Given the description of an element on the screen output the (x, y) to click on. 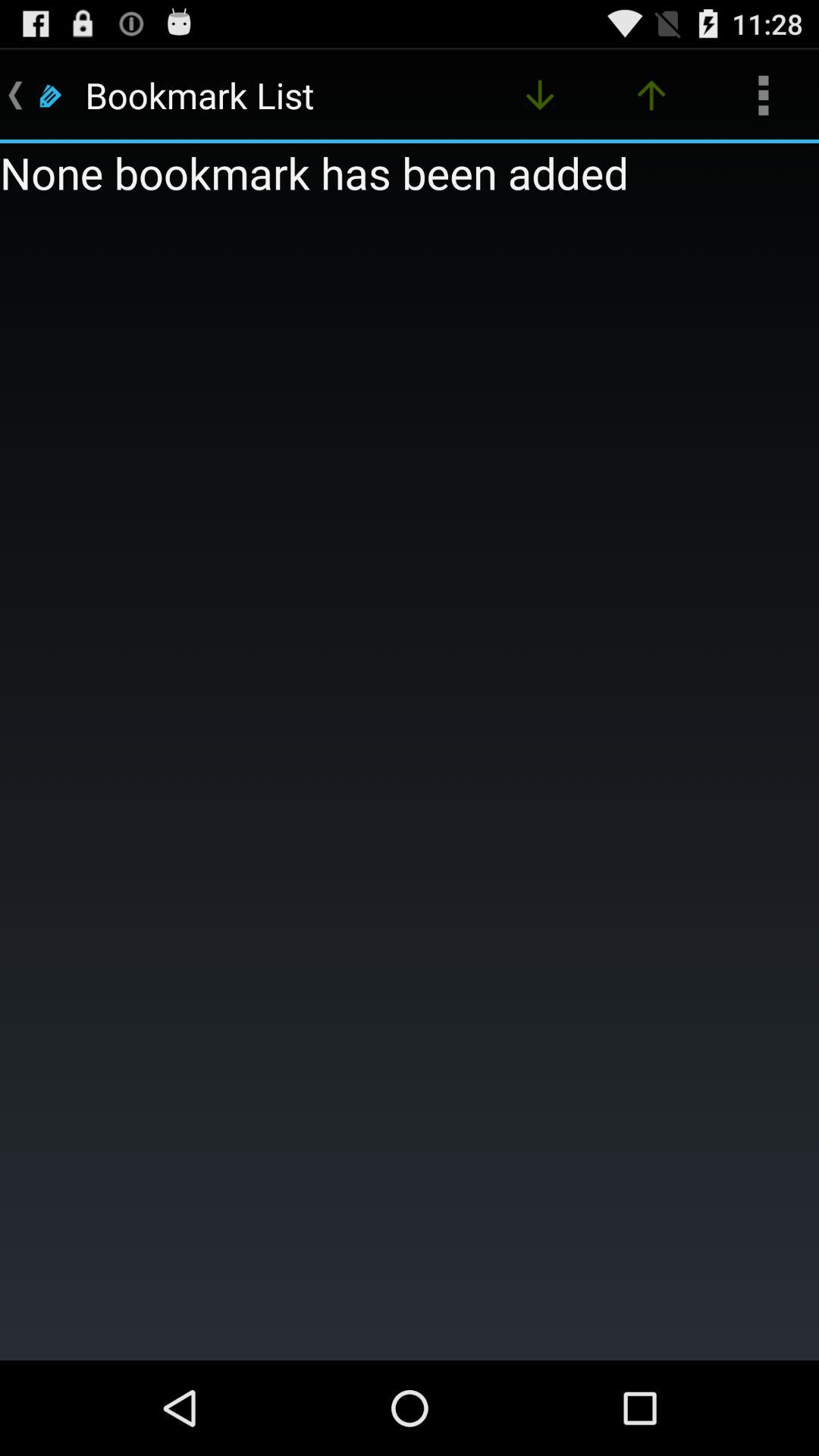
click the app above none bookmark has item (540, 95)
